Given the description of an element on the screen output the (x, y) to click on. 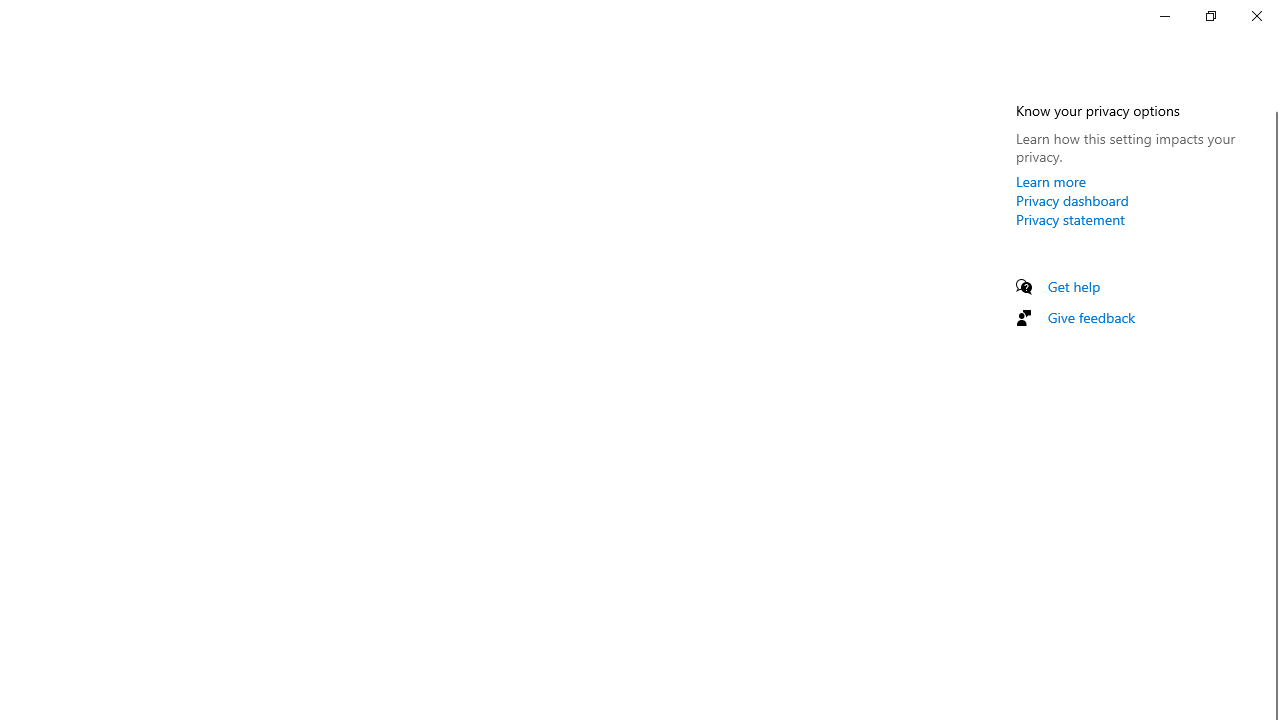
Privacy statement (1070, 219)
Give feedback (1091, 317)
Privacy dashboard (1072, 200)
Close Settings (1256, 15)
Minimize Settings (1164, 15)
Get help (1074, 286)
Restore Settings (1210, 15)
Learn more (1051, 181)
Vertical Small Decrease (1272, 103)
